Given the description of an element on the screen output the (x, y) to click on. 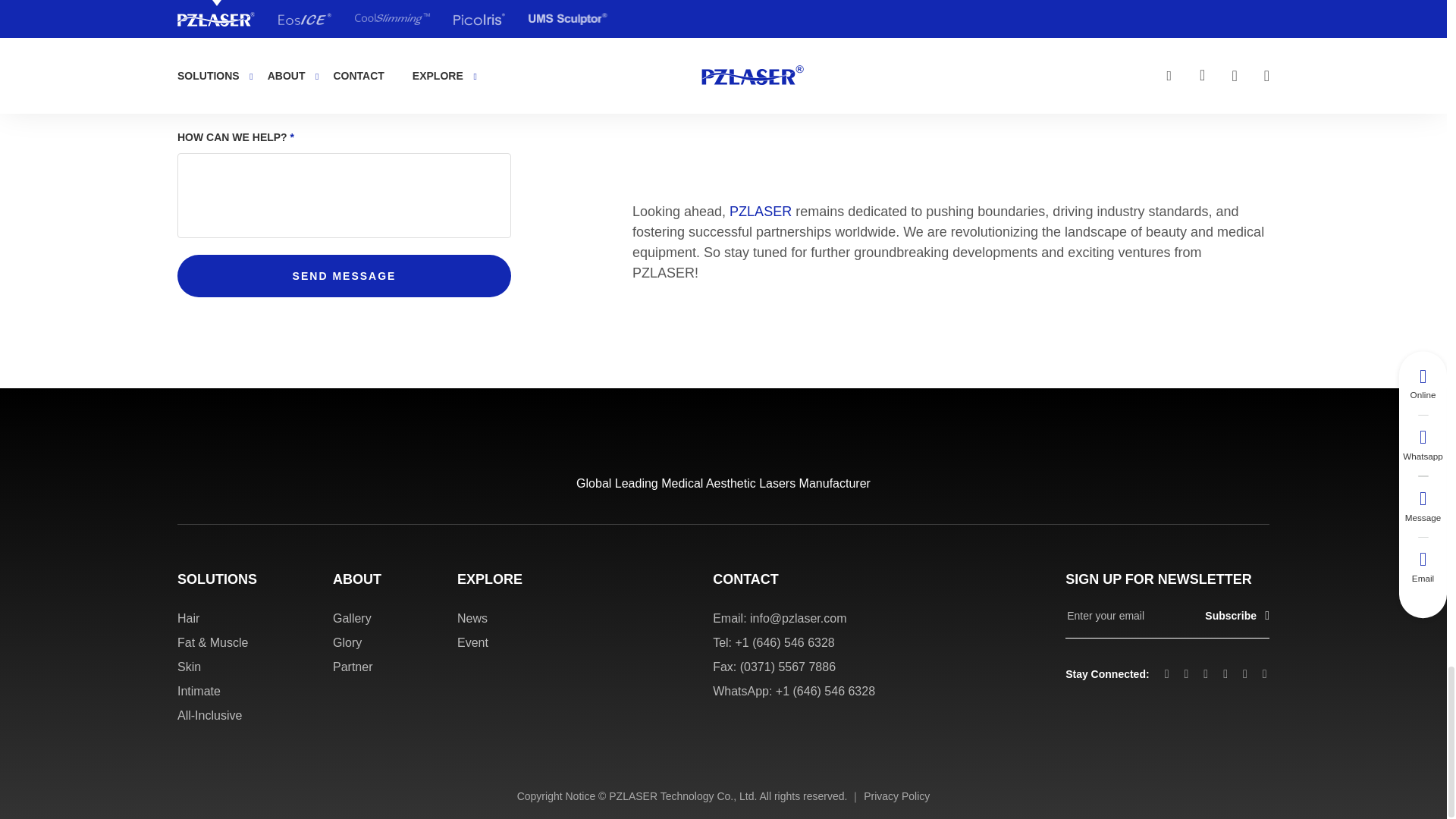
Subscribe (1230, 615)
